Given the description of an element on the screen output the (x, y) to click on. 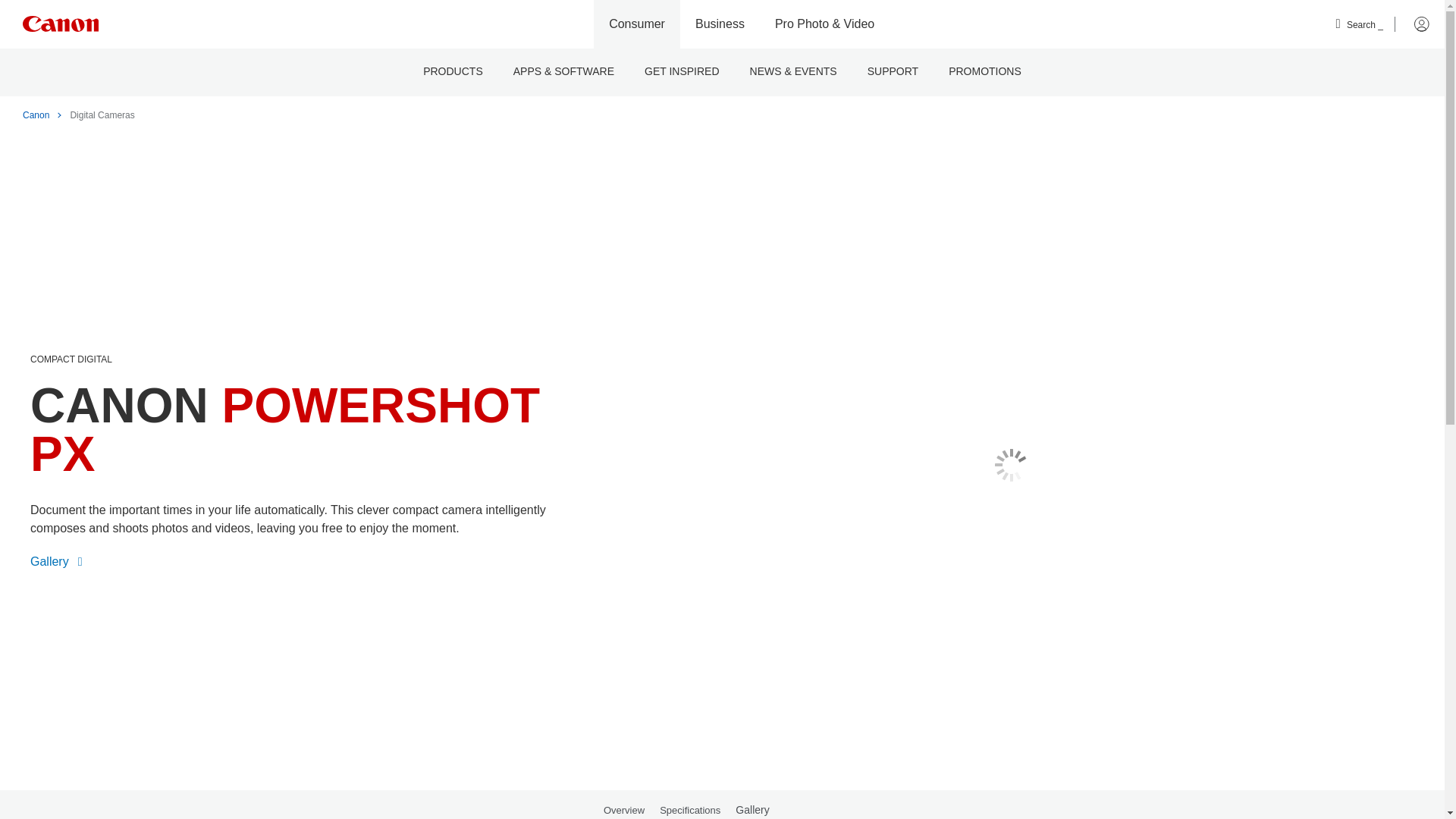
PRODUCTS (452, 72)
My Canon (1411, 23)
Canon Logo, back to home page (61, 23)
Consumer (636, 24)
Business (719, 24)
